Given the description of an element on the screen output the (x, y) to click on. 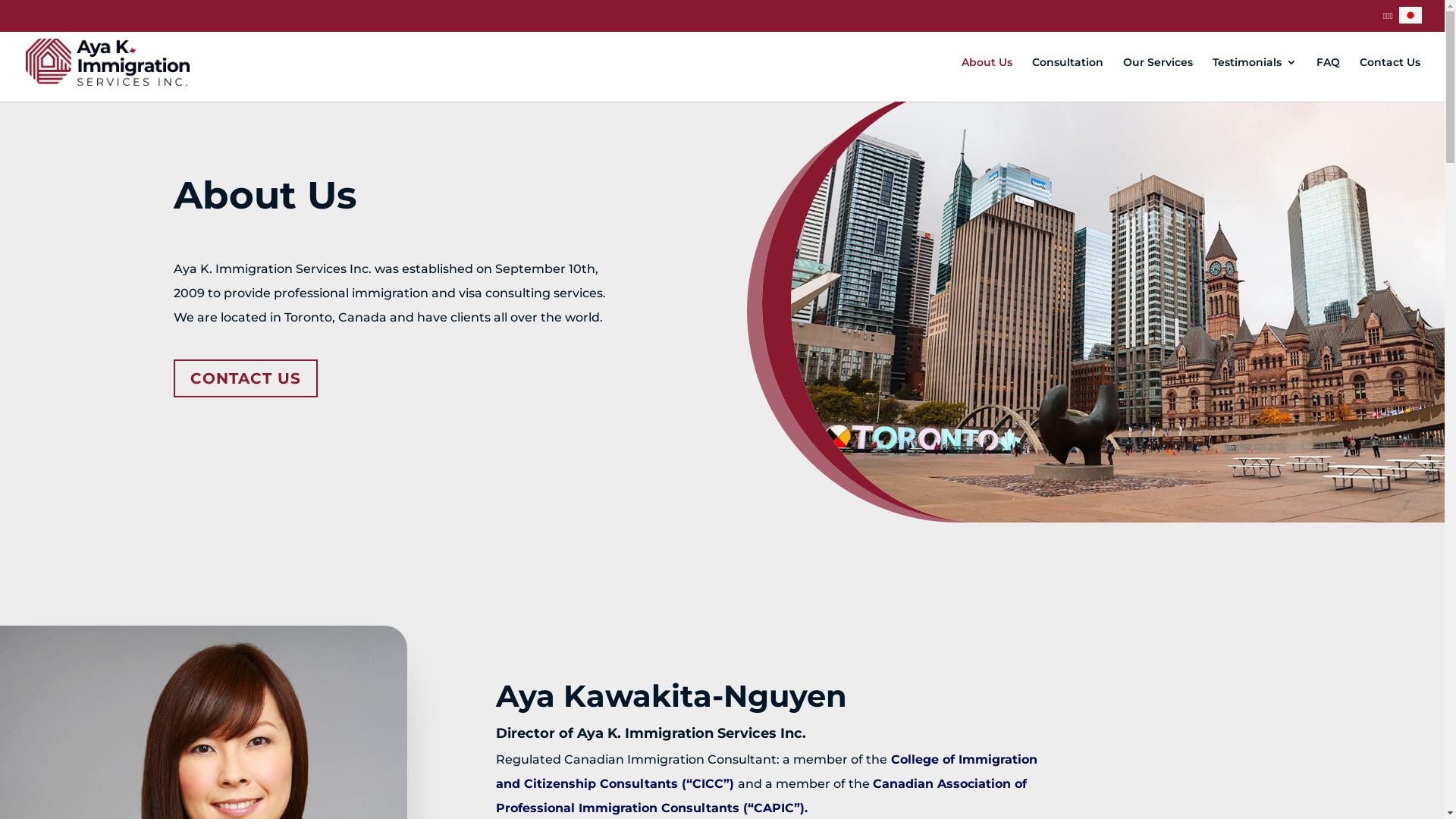
Testimonials Element type: text (1254, 78)
FAQ Element type: text (1327, 78)
CONTACT US Element type: text (245, 378)
Consultation Element type: text (1067, 78)
Our Services Element type: text (1157, 78)
About Us Element type: text (986, 78)
Contact Us Element type: text (1389, 78)
